Given the description of an element on the screen output the (x, y) to click on. 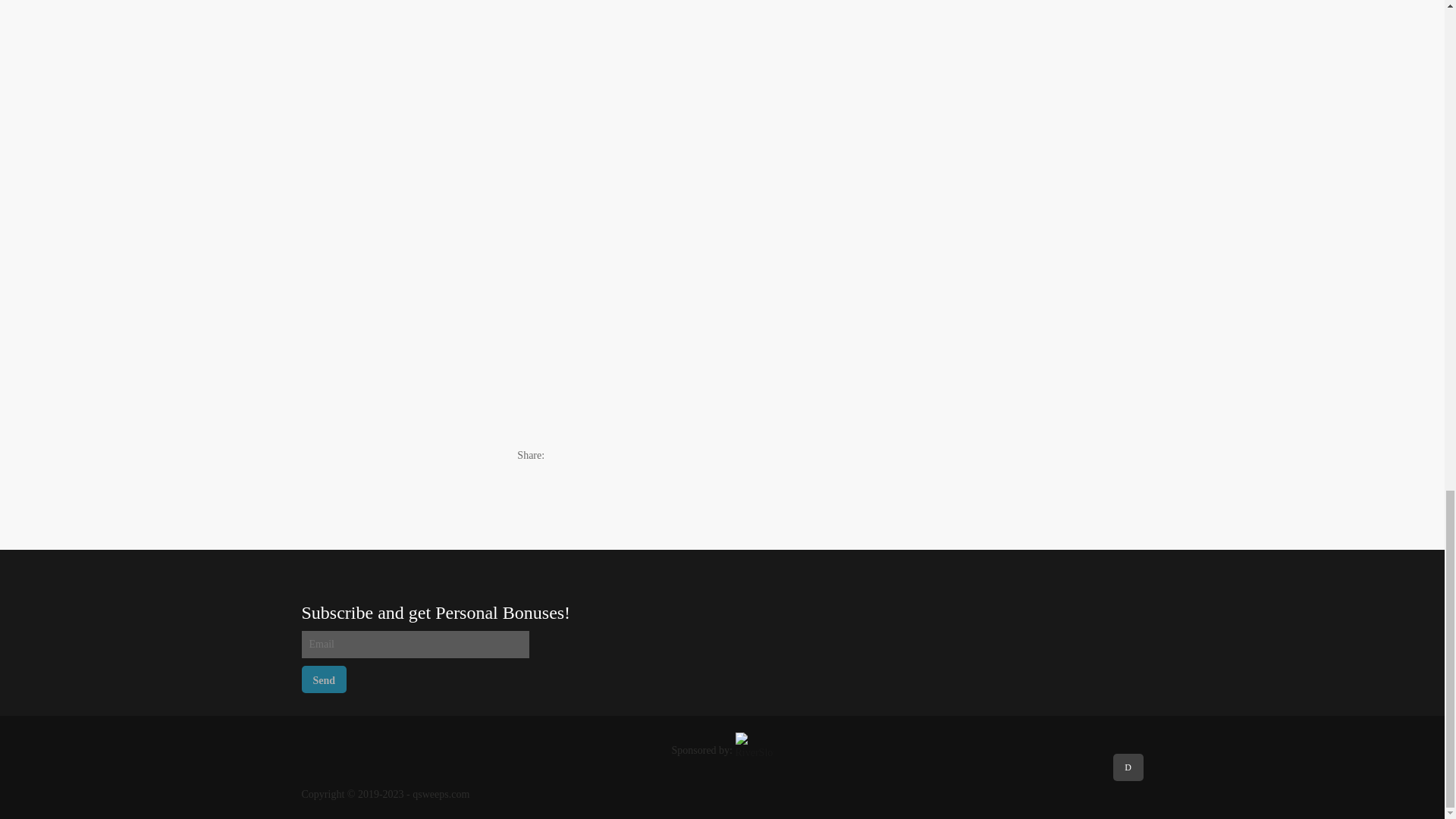
Send (324, 678)
Send (324, 678)
Share on Facebook (565, 455)
Share on Twitter (596, 455)
Share by email (628, 455)
www.lineups.com (354, 413)
